Given the description of an element on the screen output the (x, y) to click on. 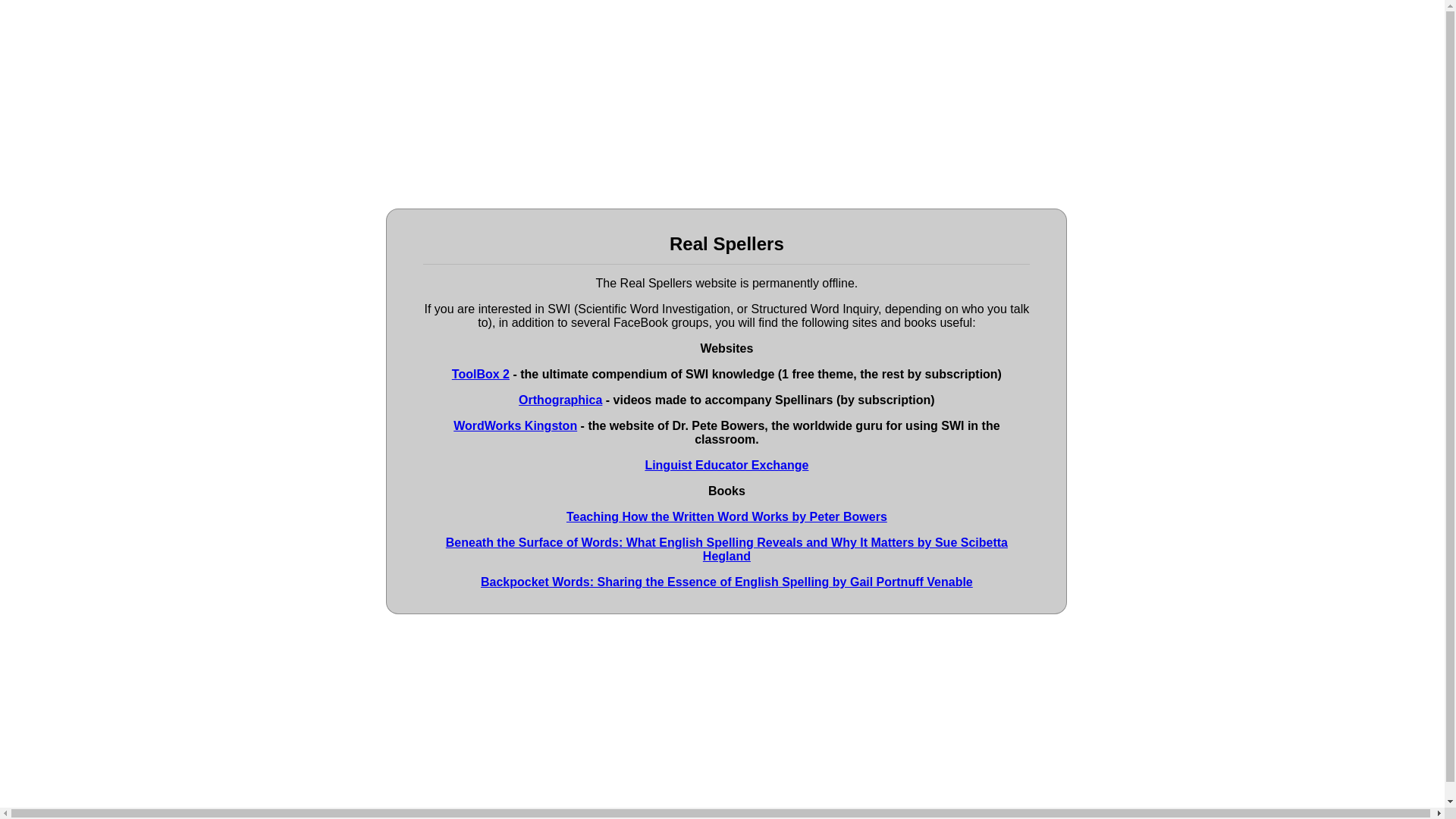
Orthographica (560, 399)
ToolBox 2 (480, 373)
WordWorks Kingston (514, 425)
Teaching How the Written Word Works by Peter Bowers (726, 516)
Linguist Educator Exchange (726, 464)
